Given the description of an element on the screen output the (x, y) to click on. 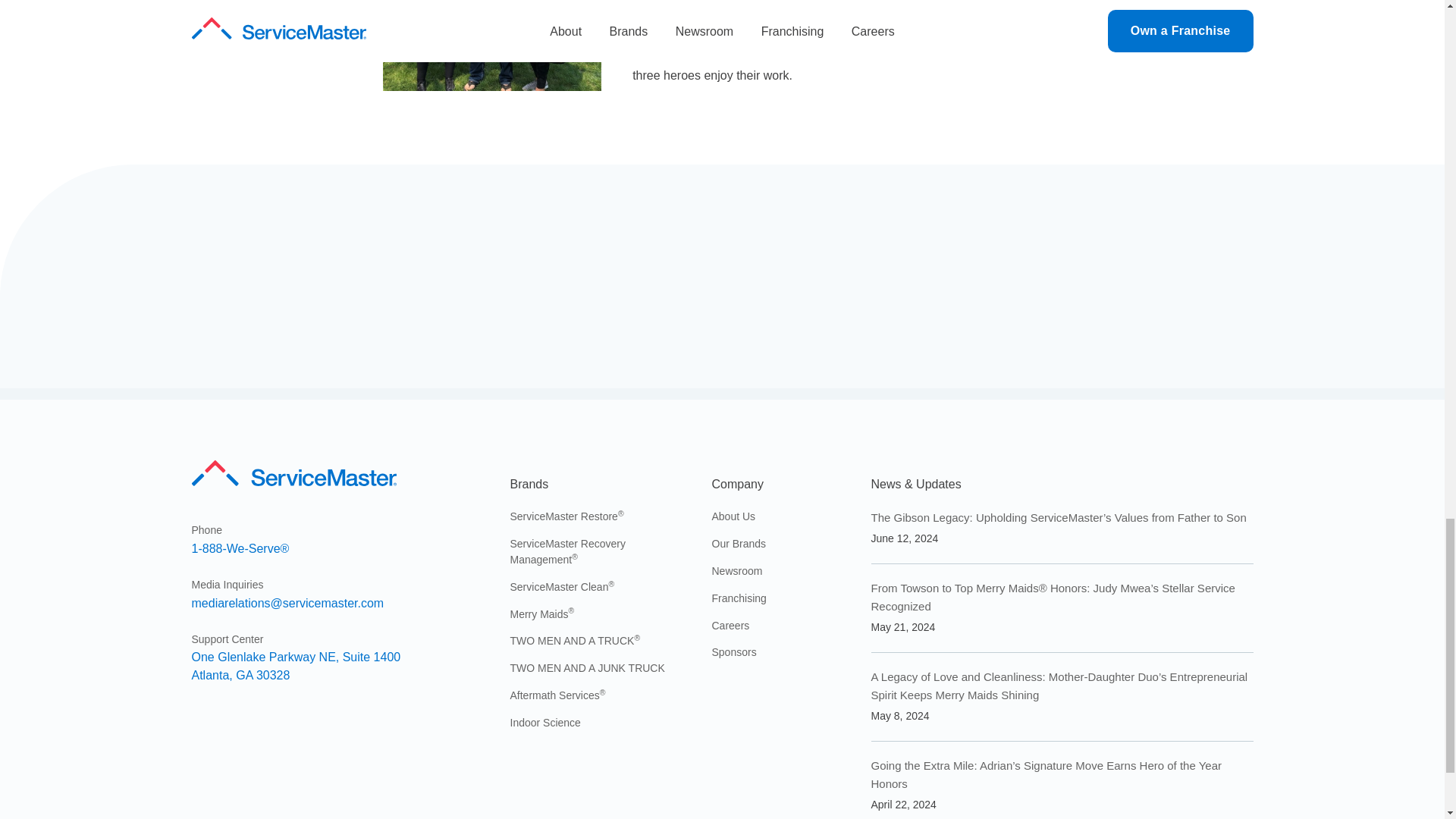
TWO MEN AND A JUNK TRUCK (586, 667)
Link to homepage (295, 665)
